Given the description of an element on the screen output the (x, y) to click on. 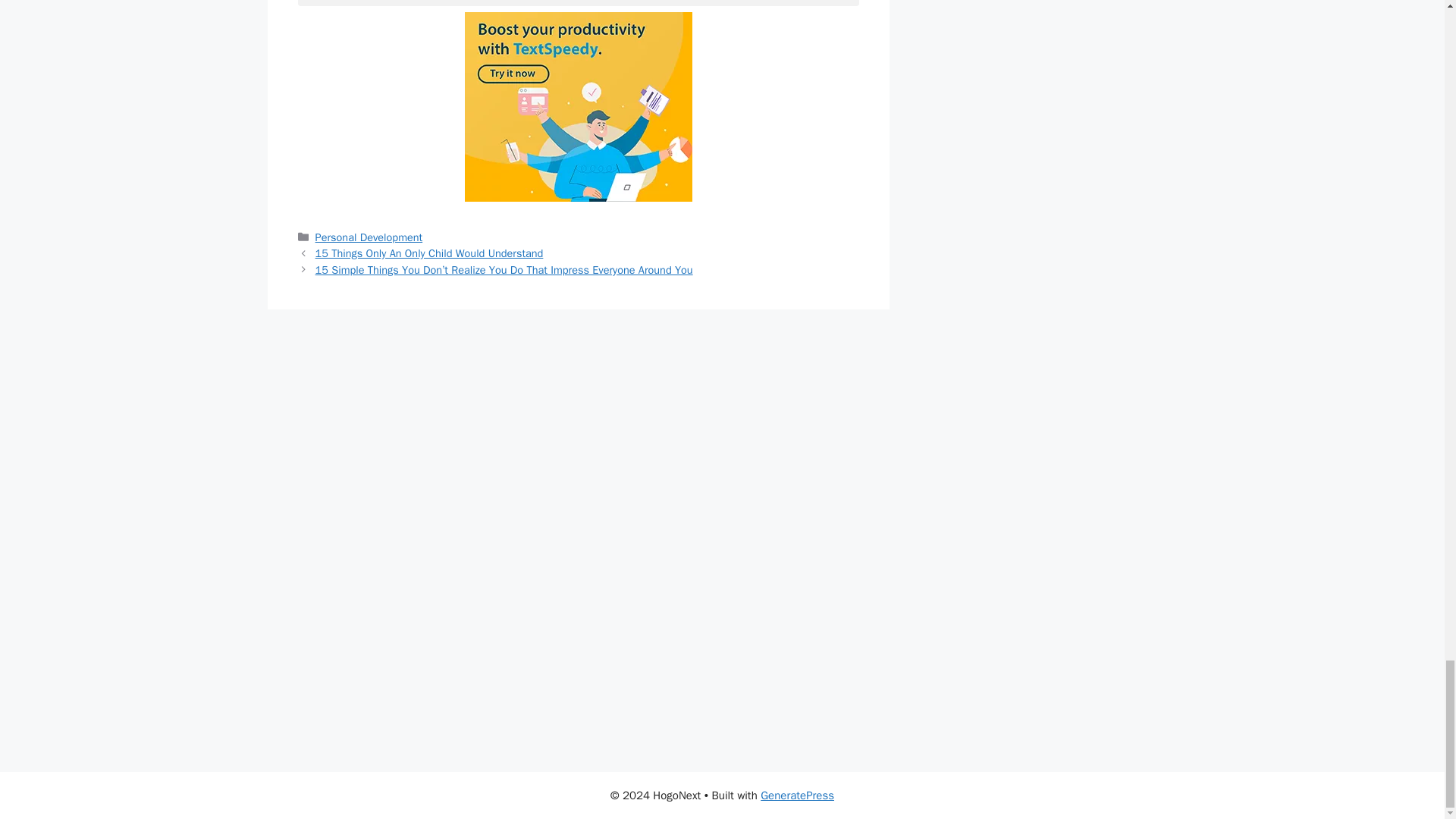
Personal Development (369, 237)
15 Things Only An Only Child Would Understand (429, 253)
